Given the description of an element on the screen output the (x, y) to click on. 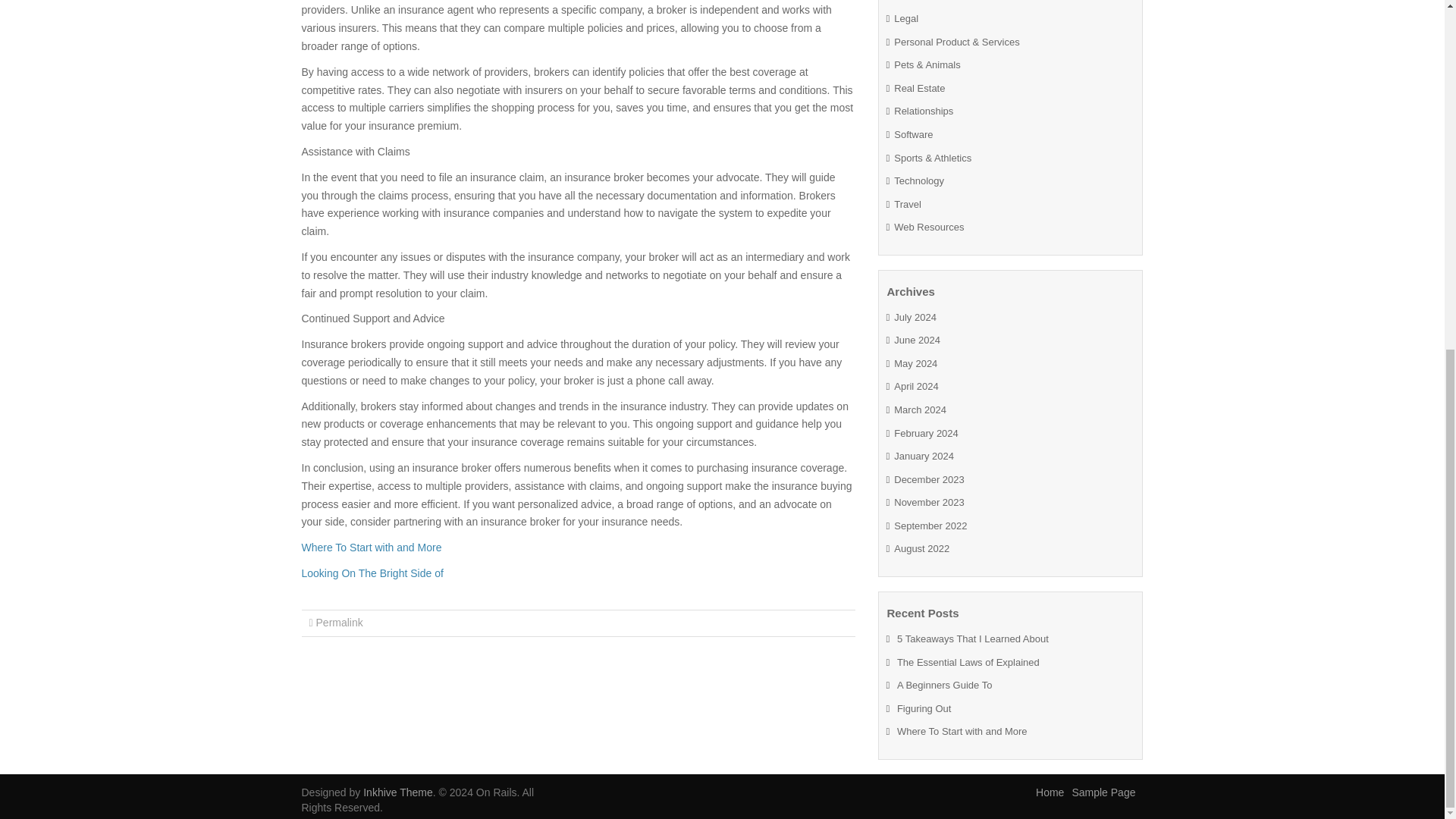
July 2024 (914, 317)
May 2024 (915, 363)
Looking On The Bright Side of (372, 573)
Relationships (923, 111)
Technology (918, 180)
Travel (907, 204)
Permalink (338, 622)
Real Estate (918, 88)
Legal (905, 18)
Software (913, 134)
Web Resources (928, 226)
Where To Start with and More (371, 547)
June 2024 (916, 339)
April 2024 (916, 386)
Internet Services (930, 0)
